Given the description of an element on the screen output the (x, y) to click on. 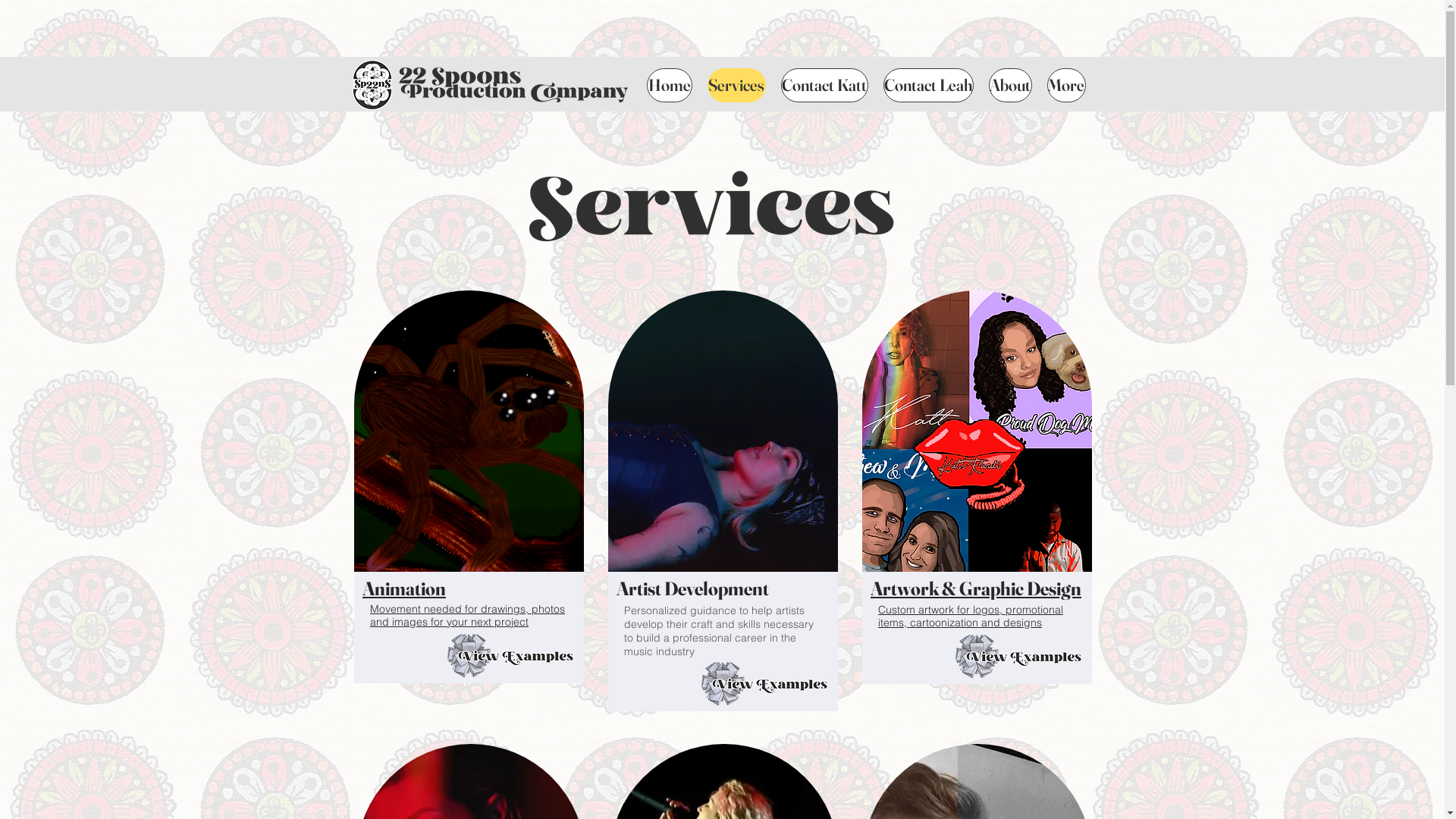
22spoonsblackbackground_edited.png Element type: hover (371, 84)
Contact Leah Element type: text (927, 85)
Click for Examples! Element type: hover (1018, 655)
Click for Exampes! Element type: hover (510, 654)
Contact Katt Element type: text (824, 85)
Services Element type: text (735, 85)
Coming Soon! Element type: hover (764, 683)
Artwork & Graphic Design Element type: text (975, 588)
22 Spoons.png Element type: hover (513, 83)
Home Element type: text (668, 85)
About Element type: text (1010, 85)
Services1.png Element type: hover (711, 204)
Animation Element type: text (403, 588)
